Given the description of an element on the screen output the (x, y) to click on. 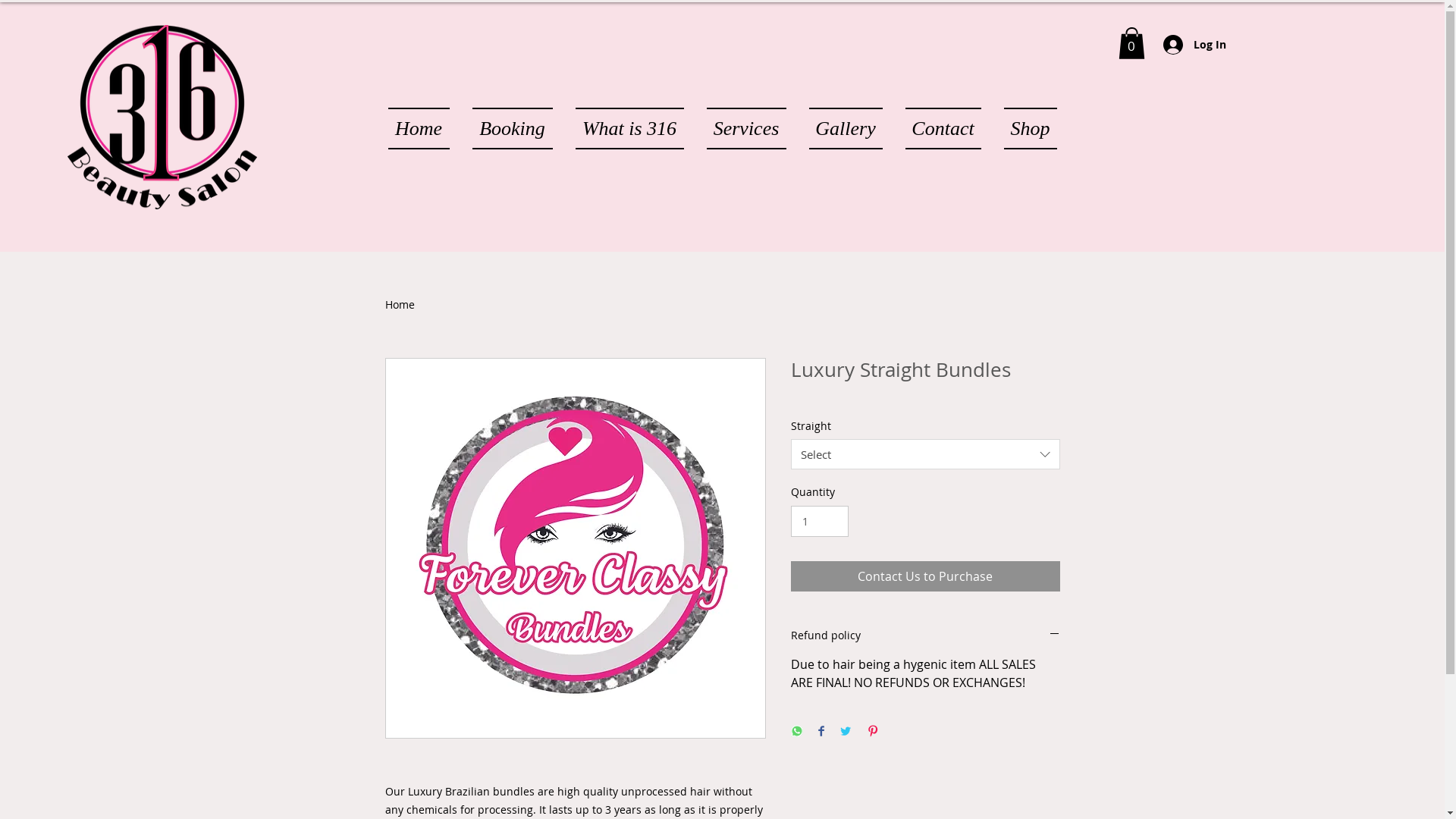
Contact Element type: text (942, 128)
Shop Element type: text (1023, 128)
Gallery Element type: text (845, 128)
Log In Element type: text (1194, 44)
Services Element type: text (745, 128)
0 Element type: text (1130, 43)
Refund policy Element type: text (924, 635)
Home Element type: text (424, 128)
Booking Element type: text (512, 128)
What is 316 Element type: text (629, 128)
Select Element type: text (924, 454)
Contact Us to Purchase Element type: text (924, 576)
Home Element type: text (399, 304)
